Given the description of an element on the screen output the (x, y) to click on. 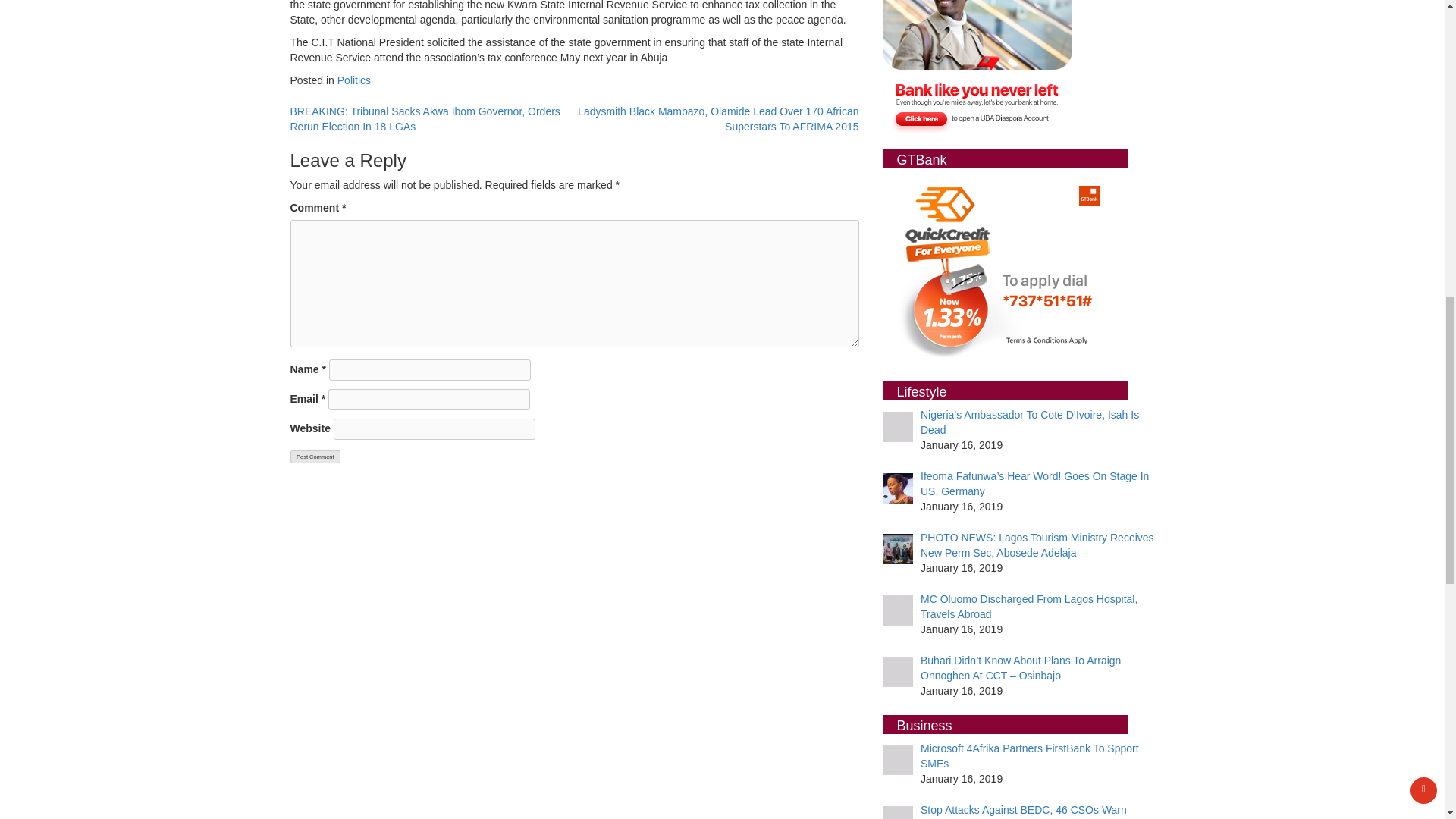
Post Comment (314, 456)
Post Comment (314, 456)
Politics (354, 80)
Stop Attacks Against BEDC, 46 CSOs Warn (1023, 809)
Microsoft 4Afrika Partners FirstBank To Spport SMEs (1029, 755)
MC Oluomo Discharged From Lagos Hospital, Travels Abroad (1028, 605)
